Given the description of an element on the screen output the (x, y) to click on. 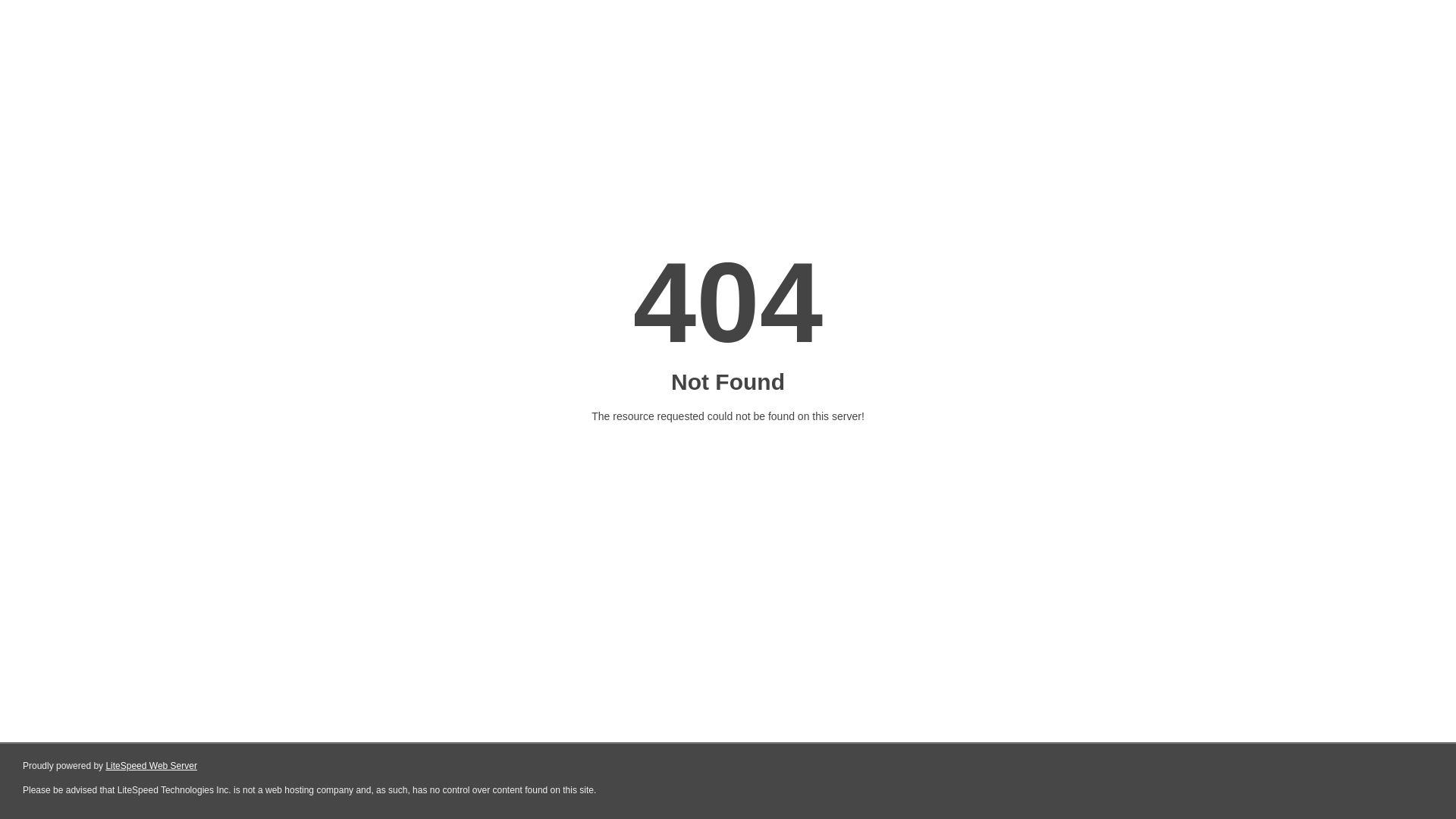
LiteSpeed Web Server Element type: text (151, 765)
